Given the description of an element on the screen output the (x, y) to click on. 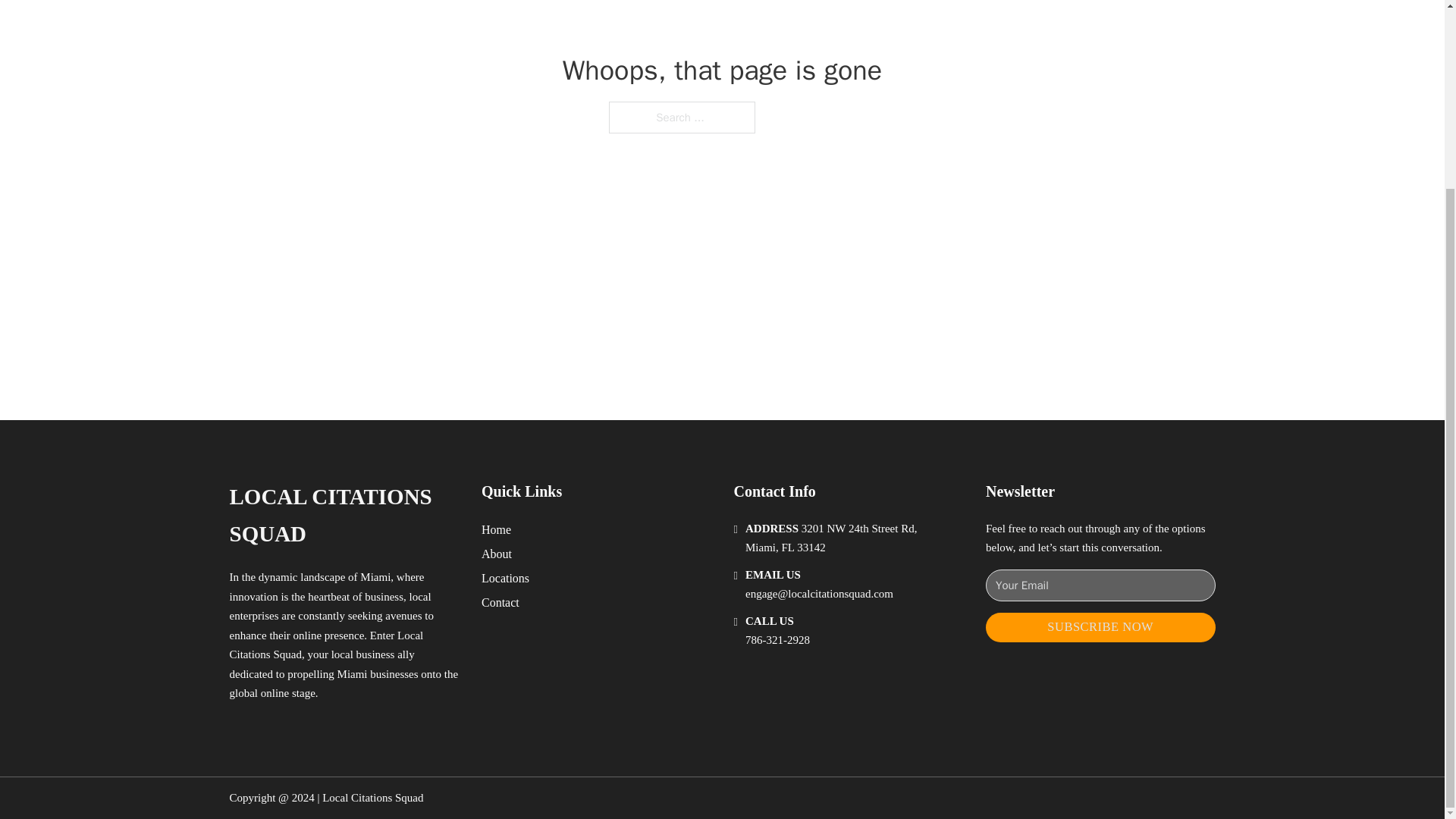
Locations (505, 578)
SUBSCRIBE NOW (1100, 627)
786-321-2928 (777, 639)
Contact (500, 602)
About (496, 553)
LOCAL CITATIONS SQUAD (343, 515)
Home (496, 529)
